Given the description of an element on the screen output the (x, y) to click on. 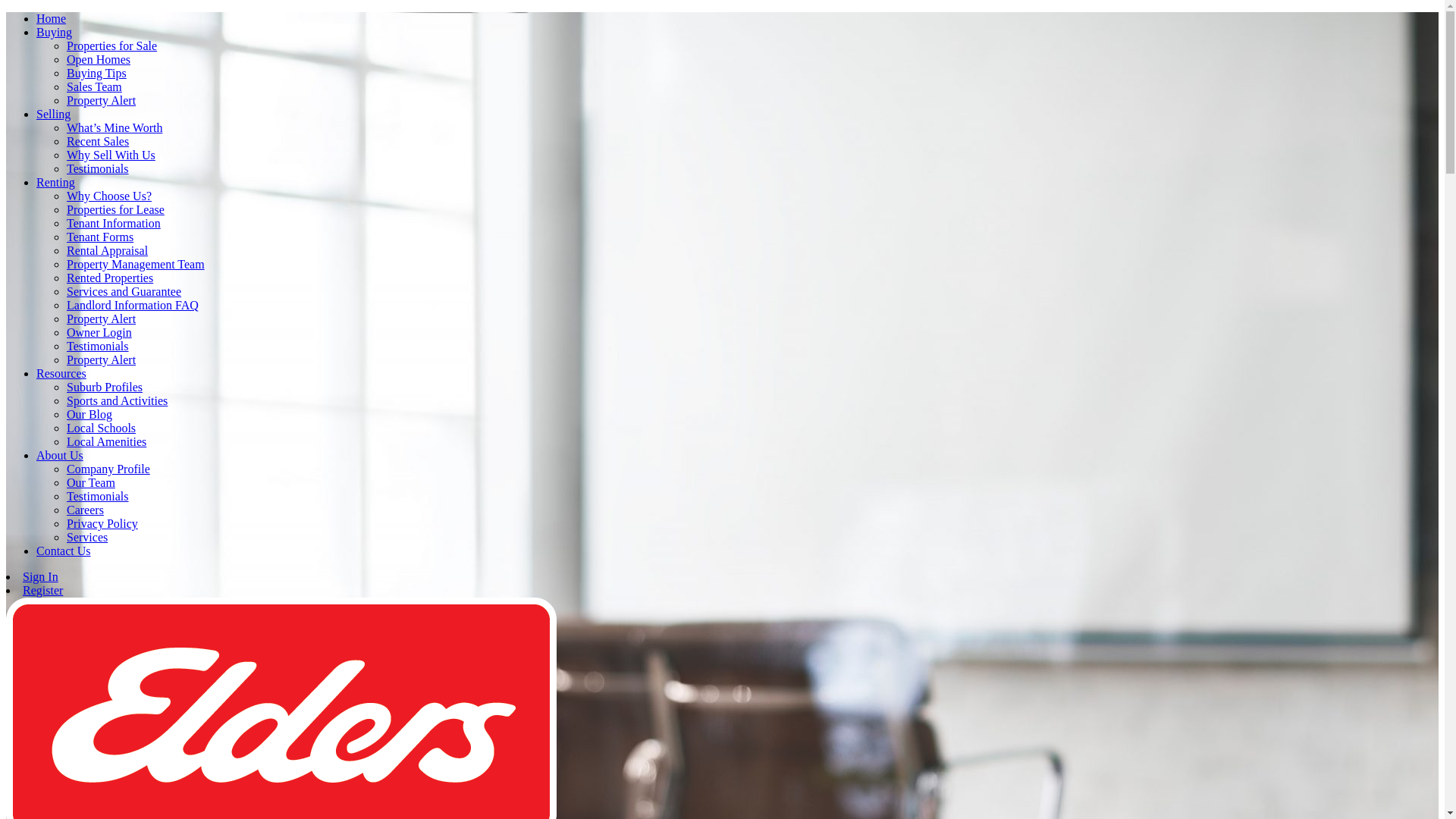
Recent Sales Element type: text (97, 140)
Careers Element type: text (84, 509)
Testimonials Element type: text (97, 495)
Renting Element type: text (55, 181)
Property Alert Element type: text (100, 100)
Sign In Element type: text (40, 576)
Property Alert Element type: text (100, 359)
Tenant Forms Element type: text (99, 236)
Rented Properties Element type: text (109, 277)
Rental Appraisal Element type: text (106, 250)
Services Element type: text (86, 536)
Why Sell With Us Element type: text (110, 154)
About Us Element type: text (59, 454)
Selling Element type: text (53, 113)
Why Choose Us? Element type: text (108, 195)
Owner Login Element type: text (98, 332)
Our Blog Element type: text (89, 413)
Company Profile Element type: text (108, 468)
Properties for Lease Element type: text (115, 209)
Contact Us Element type: text (63, 550)
Home Element type: text (50, 18)
Properties for Sale Element type: text (111, 45)
Local Amenities Element type: text (106, 441)
Our Team Element type: text (90, 482)
Resources Element type: text (61, 373)
Privacy Policy Element type: text (102, 523)
Register Element type: text (42, 589)
Sports and Activities Element type: text (116, 400)
Testimonials Element type: text (97, 345)
Property Alert Element type: text (100, 318)
Landlord Information FAQ Element type: text (132, 304)
Testimonials Element type: text (97, 168)
Property Management Team Element type: text (135, 263)
Services and Guarantee Element type: text (123, 291)
Buying Tips Element type: text (96, 72)
Buying Element type: text (54, 31)
Suburb Profiles Element type: text (104, 386)
Open Homes Element type: text (98, 59)
Sales Team Element type: text (94, 86)
Tenant Information Element type: text (113, 222)
Local Schools Element type: text (100, 427)
